Given the description of an element on the screen output the (x, y) to click on. 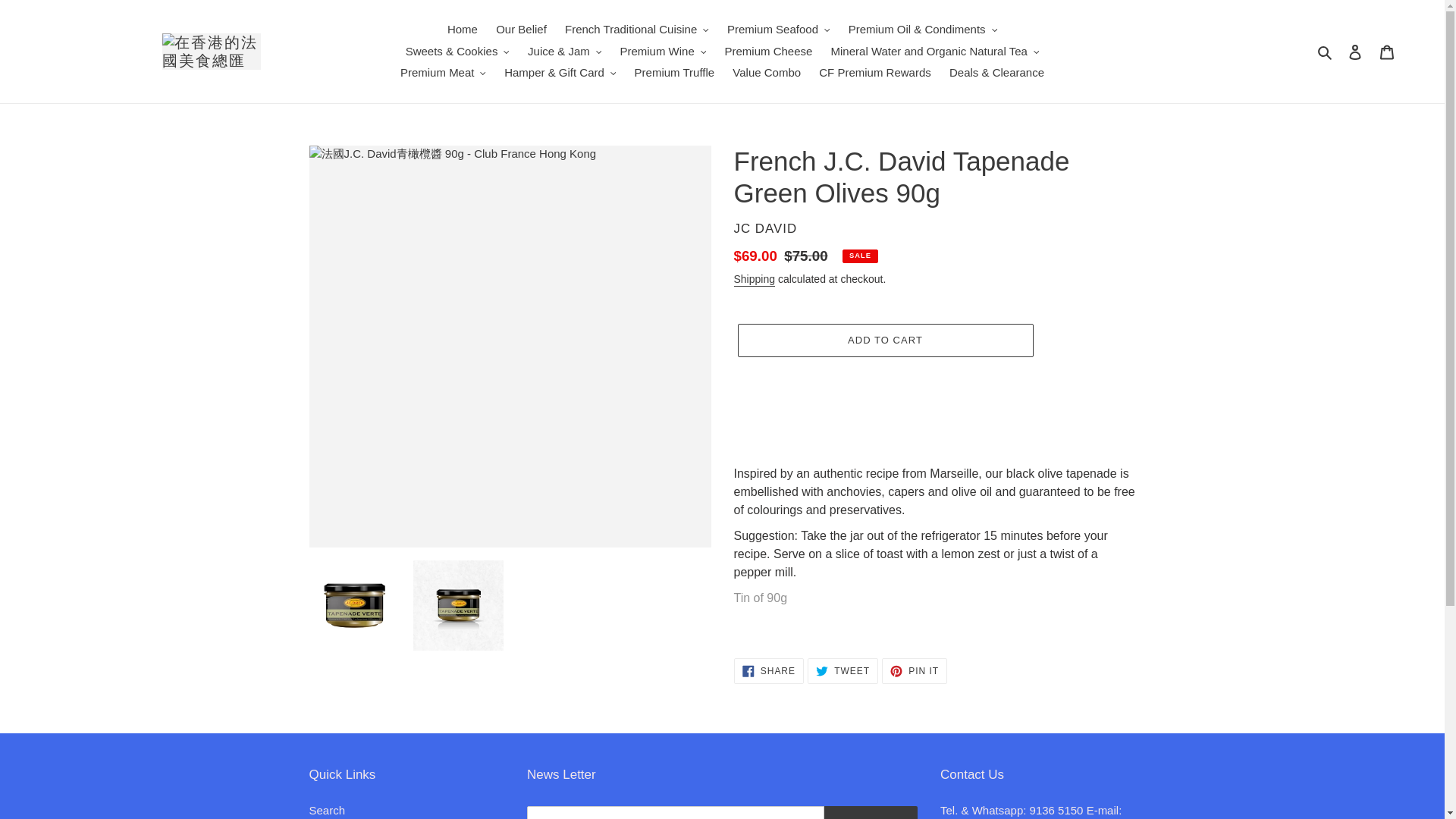
Our Belief (520, 29)
Premium Wine (662, 51)
Home (461, 29)
French Traditional Cuisine (636, 29)
Premium Seafood (778, 29)
